Given the description of an element on the screen output the (x, y) to click on. 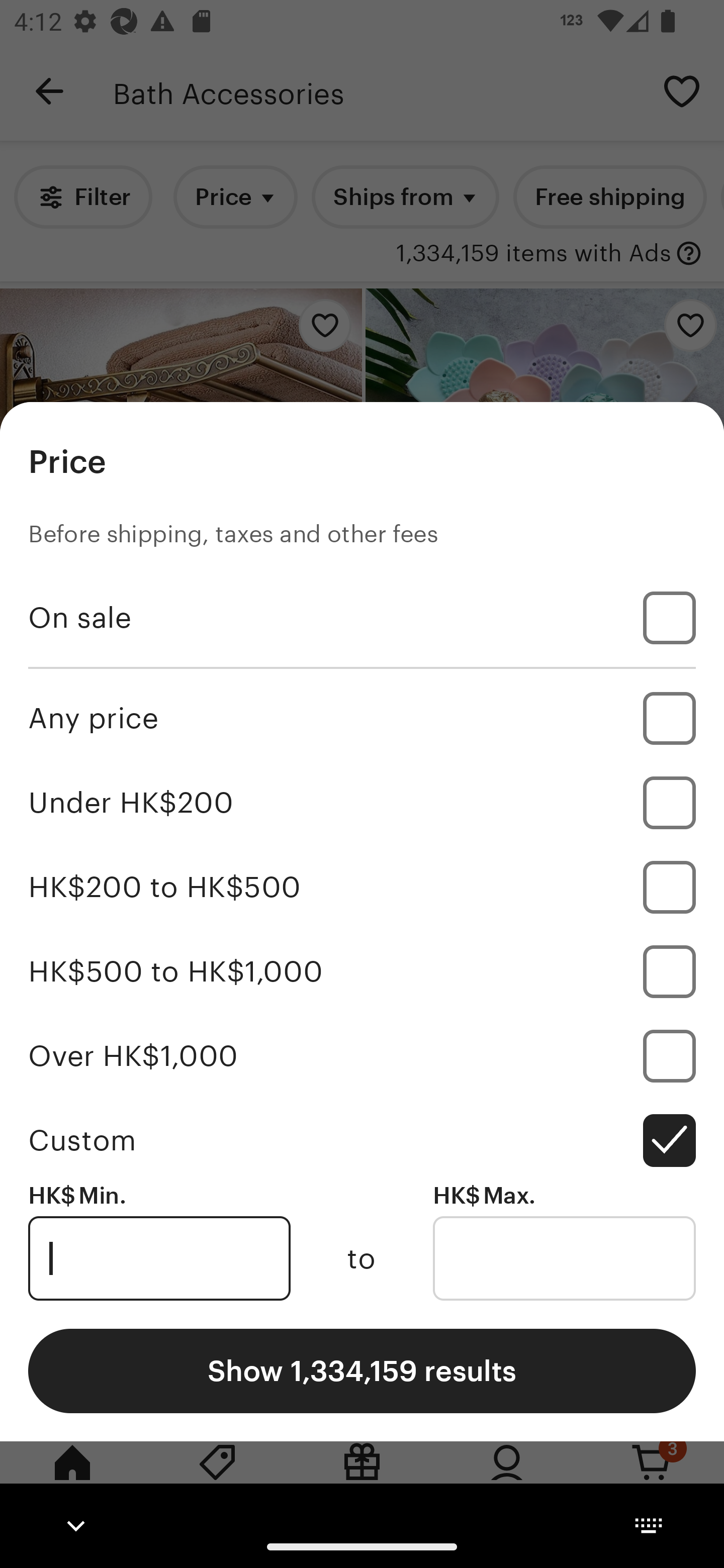
On sale (362, 617)
Any price (362, 717)
Under HK$200 (362, 802)
HK$200 to HK$500 (362, 887)
HK$500 to HK$1,000 (362, 970)
Over HK$1,000 (362, 1054)
Custom (362, 1139)
Show 1,334,159 results (361, 1370)
